Given the description of an element on the screen output the (x, y) to click on. 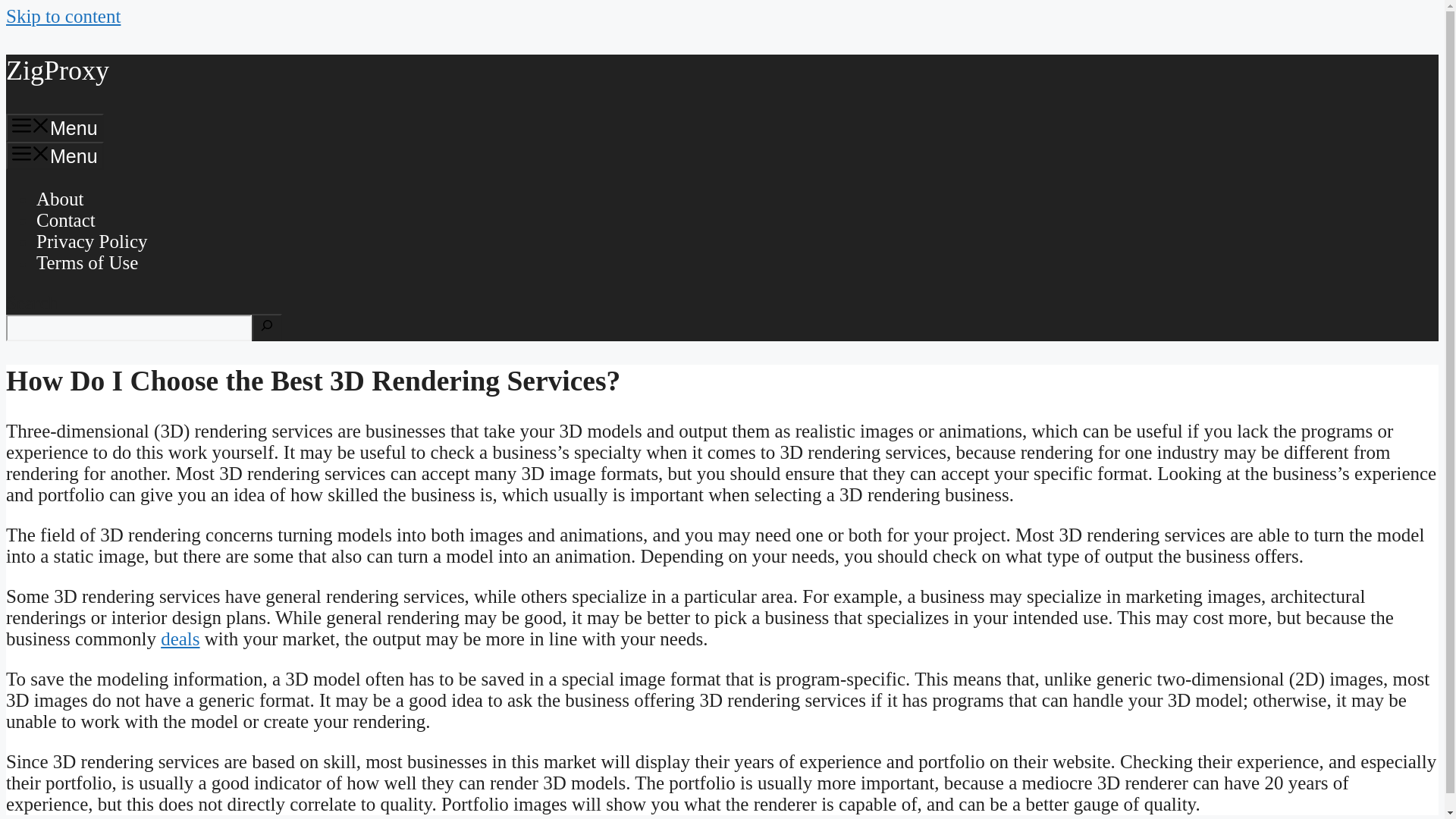
deals (179, 638)
Skip to content (62, 15)
deals (179, 638)
Menu (54, 127)
Terms of Use (87, 262)
ZigProxy (57, 70)
Contact (66, 219)
Menu (54, 155)
Skip to content (62, 15)
Privacy Policy (92, 240)
